Given the description of an element on the screen output the (x, y) to click on. 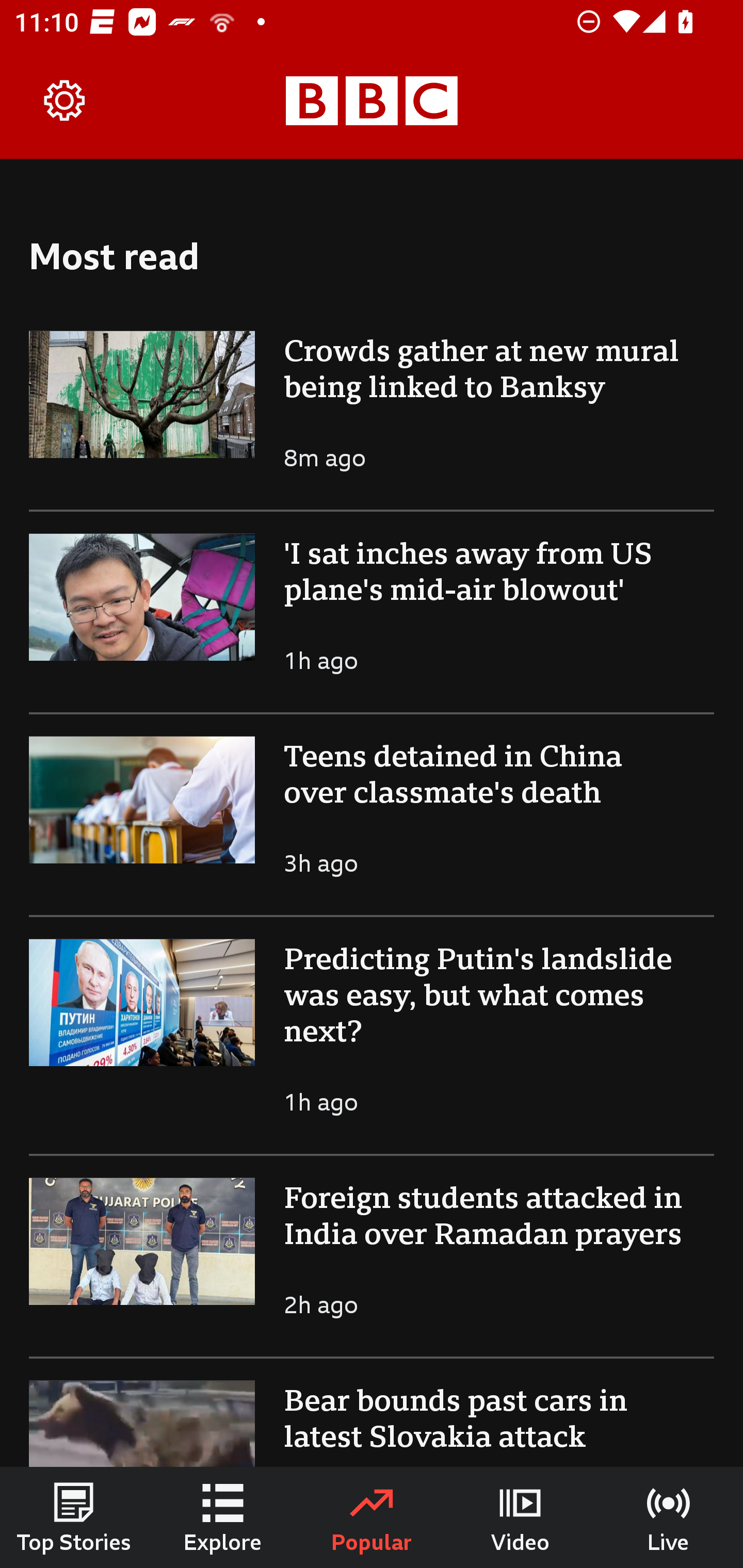
Settings (64, 100)
Top Stories (74, 1517)
Explore (222, 1517)
Video (519, 1517)
Live (668, 1517)
